Given the description of an element on the screen output the (x, y) to click on. 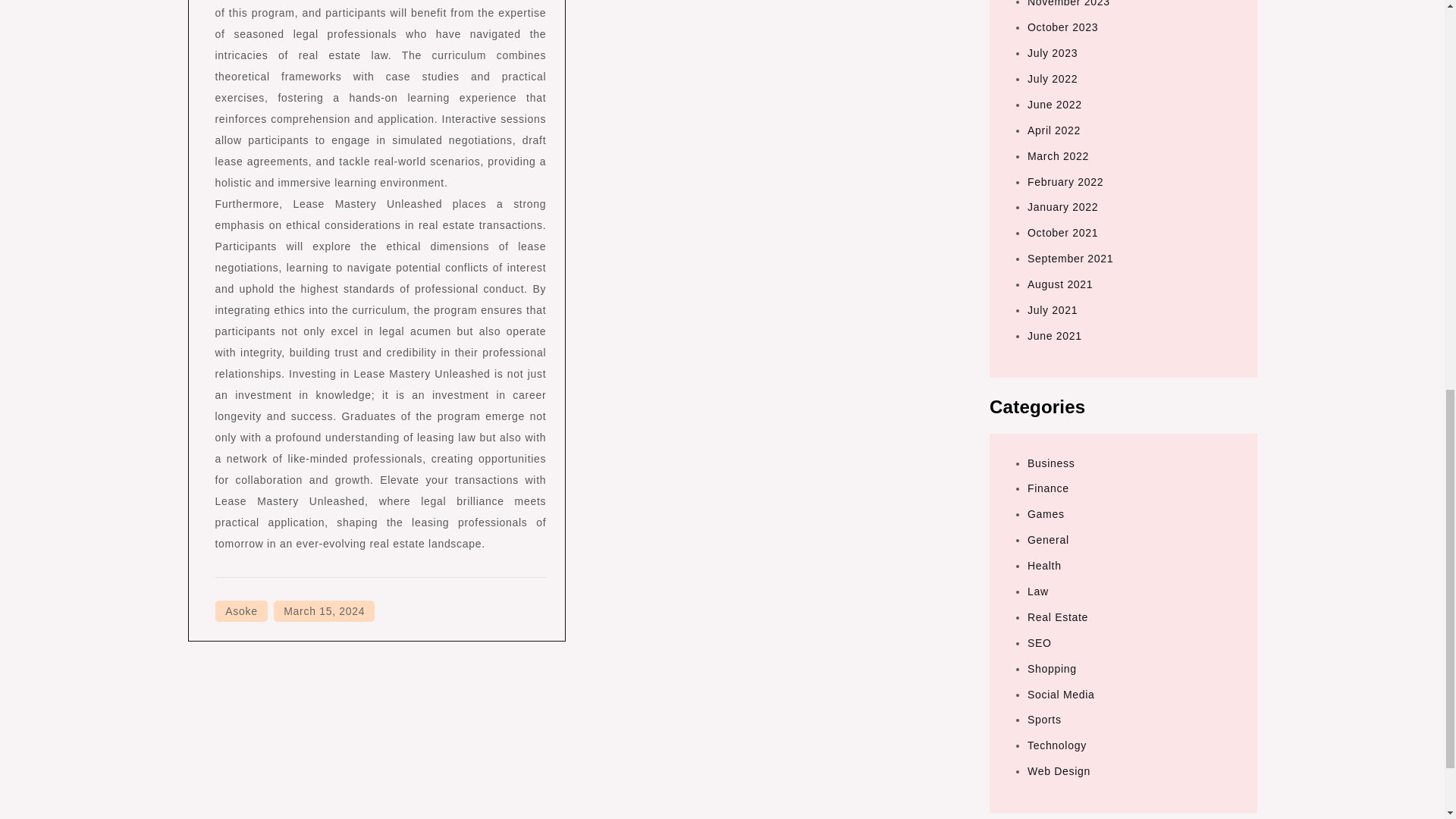
Business (1050, 463)
June 2021 (1054, 336)
Finance (1047, 488)
Asoke (240, 610)
Games (1045, 513)
November 2023 (1068, 3)
September 2021 (1070, 258)
July 2023 (1052, 52)
October 2023 (1062, 27)
October 2021 (1062, 232)
General (1047, 539)
August 2021 (1060, 284)
April 2022 (1053, 130)
January 2022 (1062, 206)
July 2022 (1052, 78)
